Given the description of an element on the screen output the (x, y) to click on. 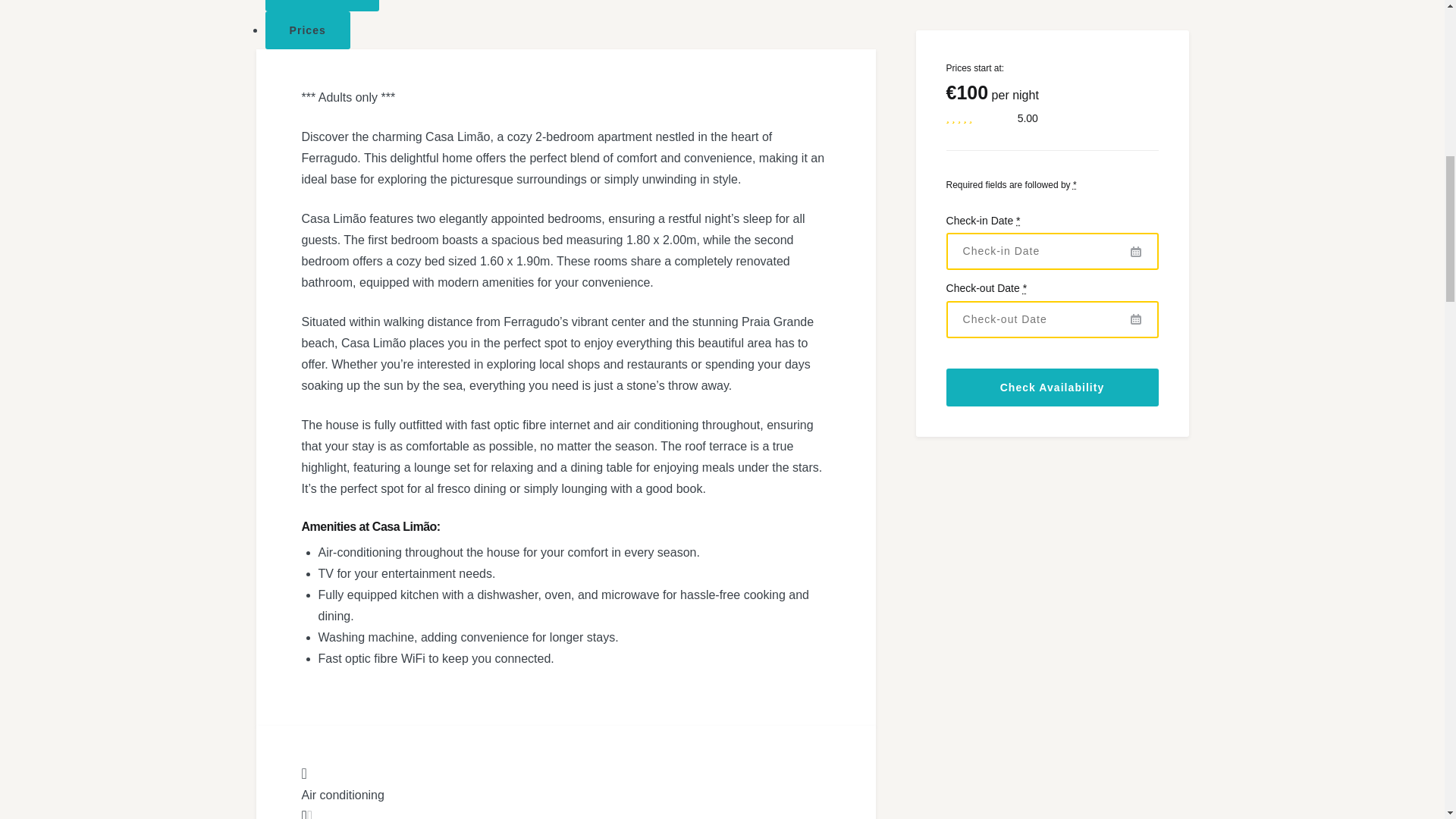
Check Availability (1052, 127)
